Given the description of an element on the screen output the (x, y) to click on. 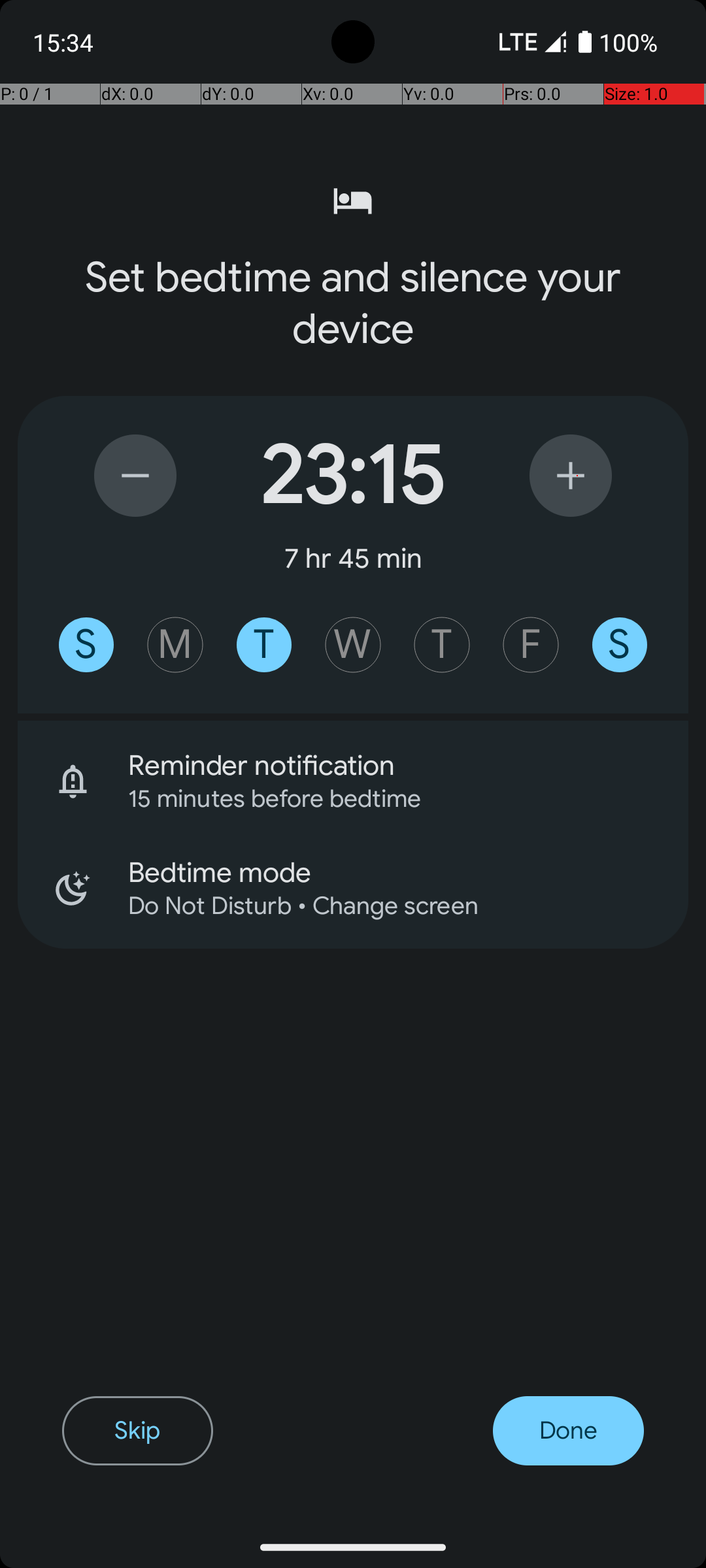
Set bedtime and silence your device Element type: android.widget.TextView (352, 302)
Fifteen minutes earlier Element type: android.widget.ImageView (135, 475)
23:15 Element type: android.widget.TextView (352, 475)
Fifteen minutes later Element type: android.widget.ImageView (570, 475)
7 hr 45 min Element type: android.widget.TextView (353, 558)
Skip Element type: android.widget.Button (137, 1430)
Reminder notification Element type: android.widget.TextView (408, 765)
15 minutes before bedtime Element type: android.widget.TextView (390, 798)
Bedtime mode Element type: android.widget.TextView (408, 872)
Do Not Disturb • Change screen Element type: android.widget.TextView (390, 905)
